Given the description of an element on the screen output the (x, y) to click on. 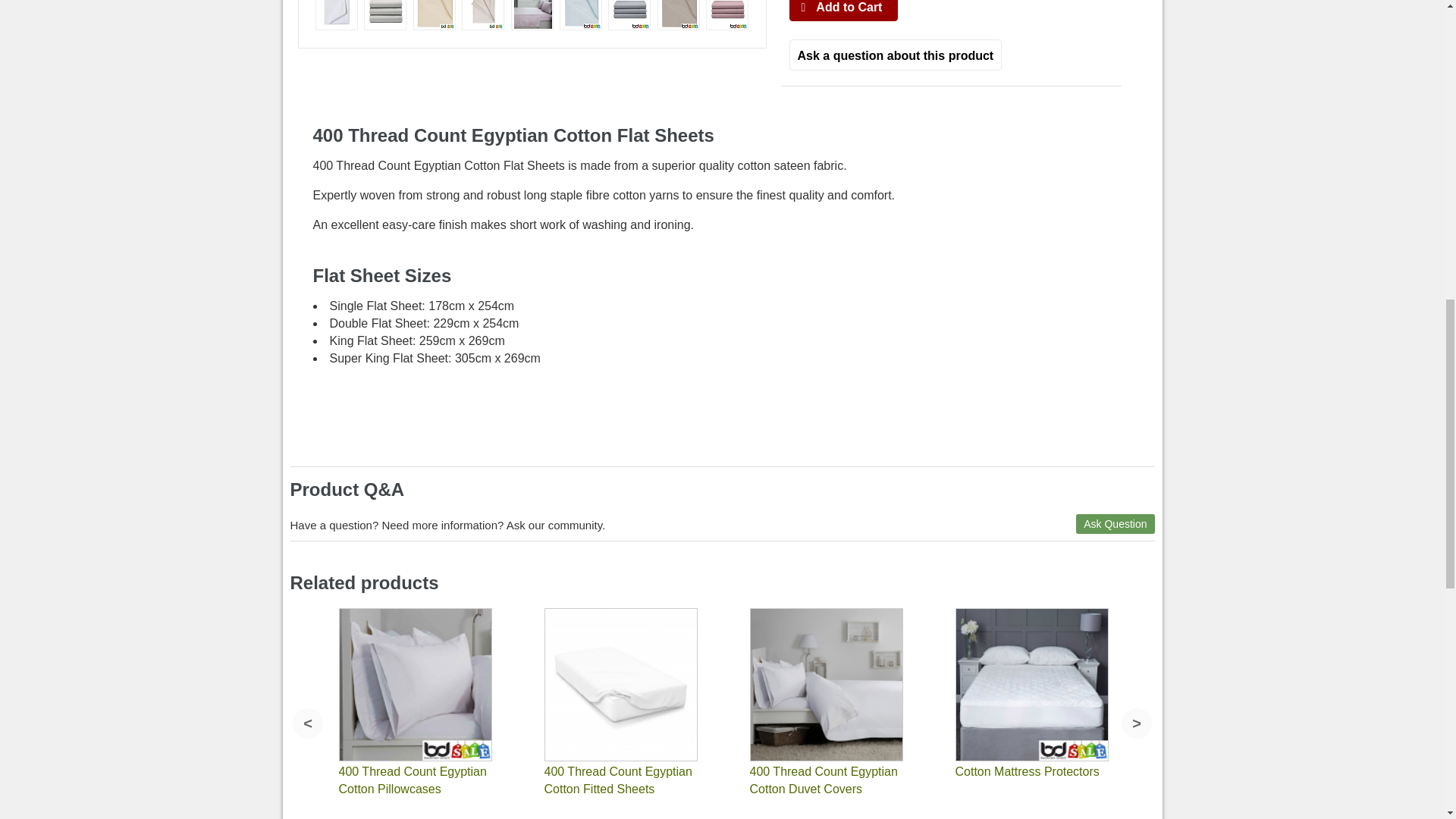
Oyster 400 Thread Count Egyptian Cotton Flat Sheets (482, 15)
Pewter 400 Thread Count Egyptian Cotton Flat Sheets (679, 15)
Mulberry 400 Thread Count Egyptian Cotton Flat Sheets (532, 15)
Ivory 400 Thread Count Egyptian Cotton Flat Sheets (385, 14)
Mulberry 400 Thread Count Egyptian Cotton Flat Sheets (532, 14)
Oyster 400 Thread Count Egyptian Cotton Flat Sheets (483, 14)
Duck Egg Blue 400 Thread Count Egyptian Cotton Flat Sheets (580, 15)
Platinum Silver 400 Thread Count Egyptian Cotton Flat Sheets (630, 14)
Blush Pink 400 Thread Count Egyptian Cotton Flat Sheets (727, 15)
Cream 400 Thread Count Egyptian Cotton Flat Sheets (434, 15)
White 400 Thread Count Egyptian Cotton Flat Sheets (337, 14)
Cream 400 Thread Count Egyptian Cotton Flat Sheets (435, 14)
White 400 Thread Count Egyptian Cotton Flat Sheets (336, 15)
Ivory 400 Thread Count Egyptian Cotton Flat Sheets (385, 15)
Duck Egg Blue 400 Thread Count Egyptian Cotton Flat Sheets (580, 14)
